Given the description of an element on the screen output the (x, y) to click on. 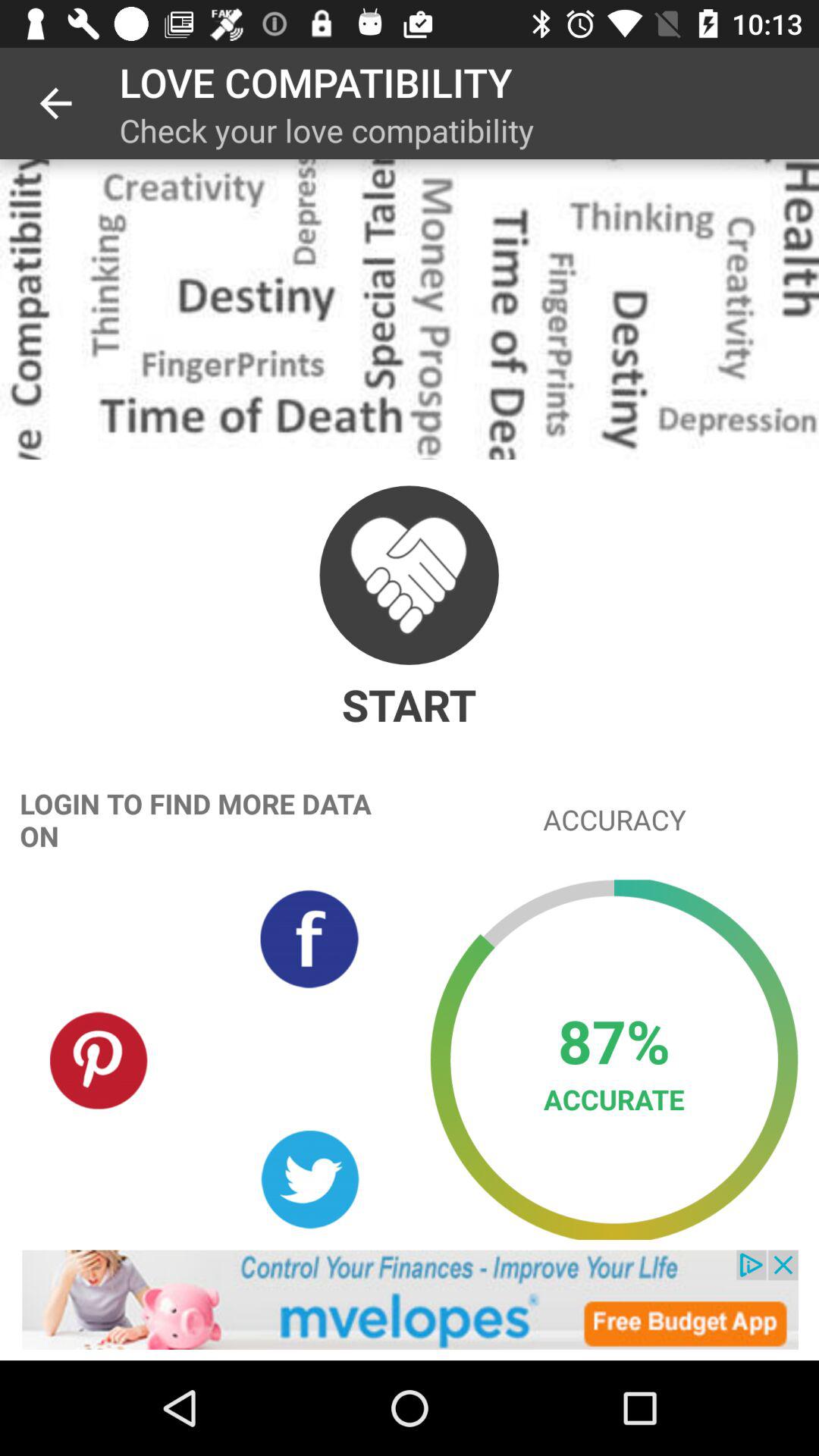
share on twitter (309, 1179)
